Given the description of an element on the screen output the (x, y) to click on. 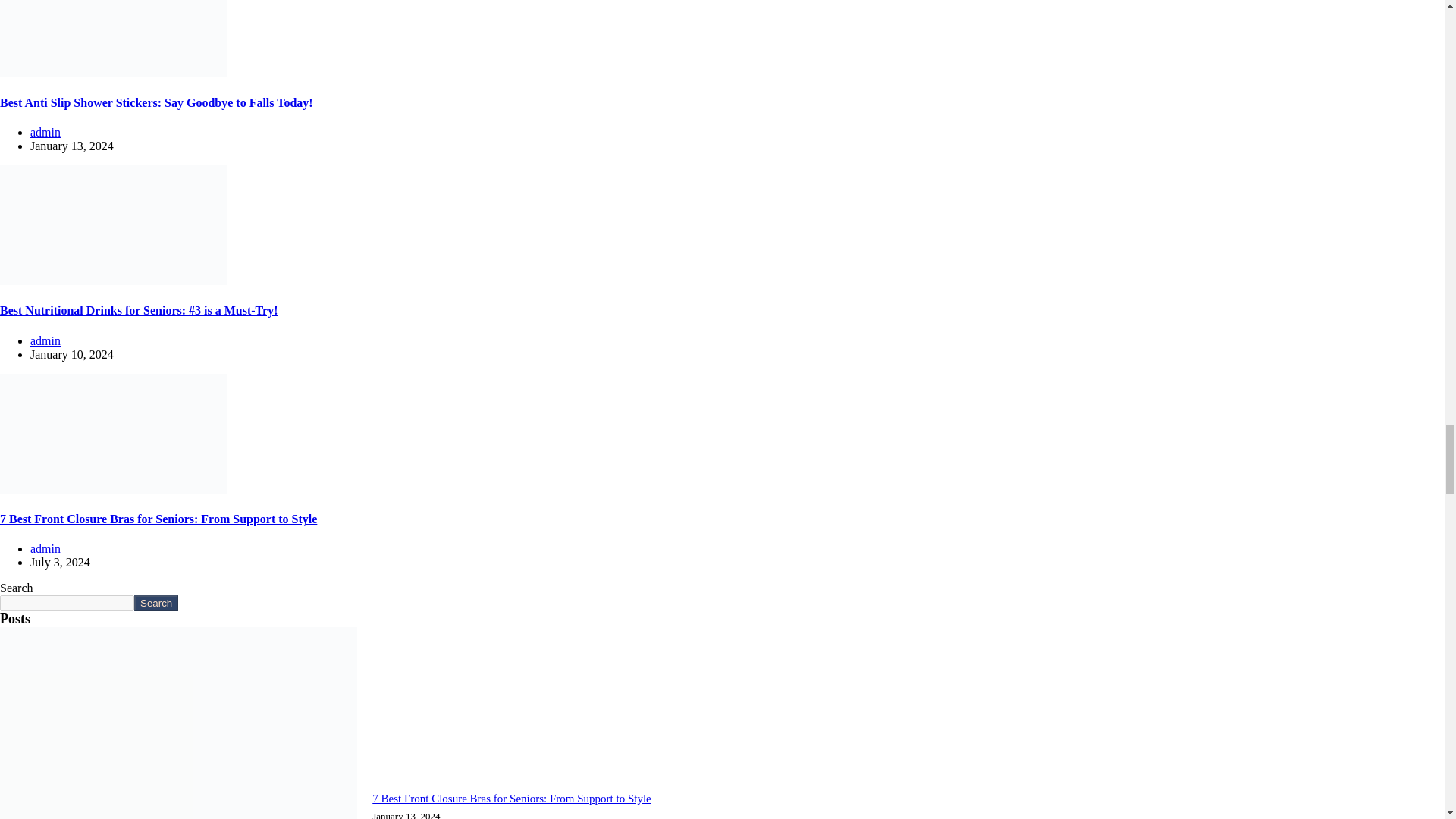
Posts by admin (45, 340)
Posts by admin (45, 132)
Posts by admin (45, 548)
